Given the description of an element on the screen output the (x, y) to click on. 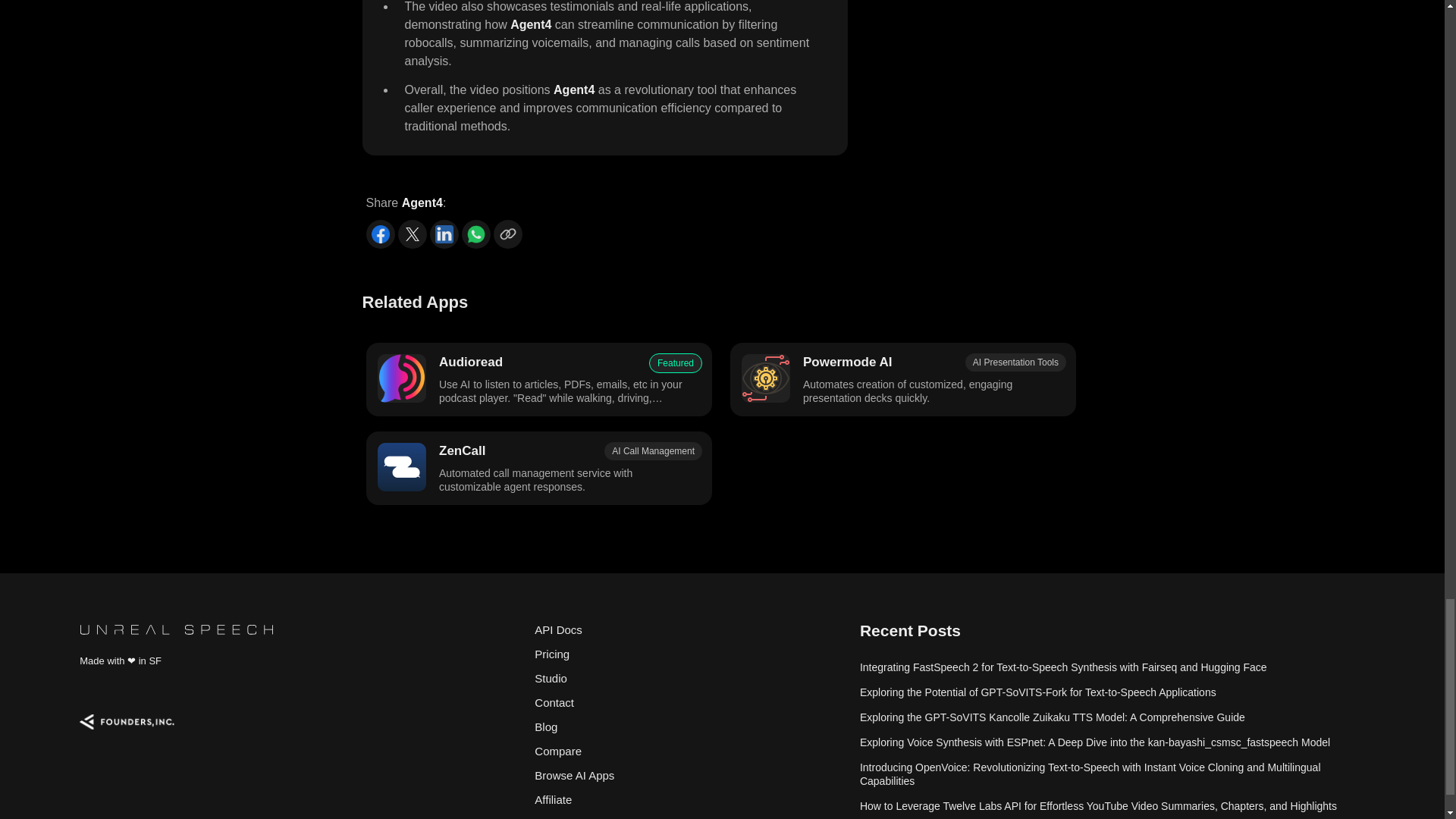
Share on Facebook (379, 234)
API Docs (689, 629)
Share on X (411, 234)
Contact (689, 702)
Copy Link (507, 234)
Share on LinkedIn (443, 234)
